Given the description of an element on the screen output the (x, y) to click on. 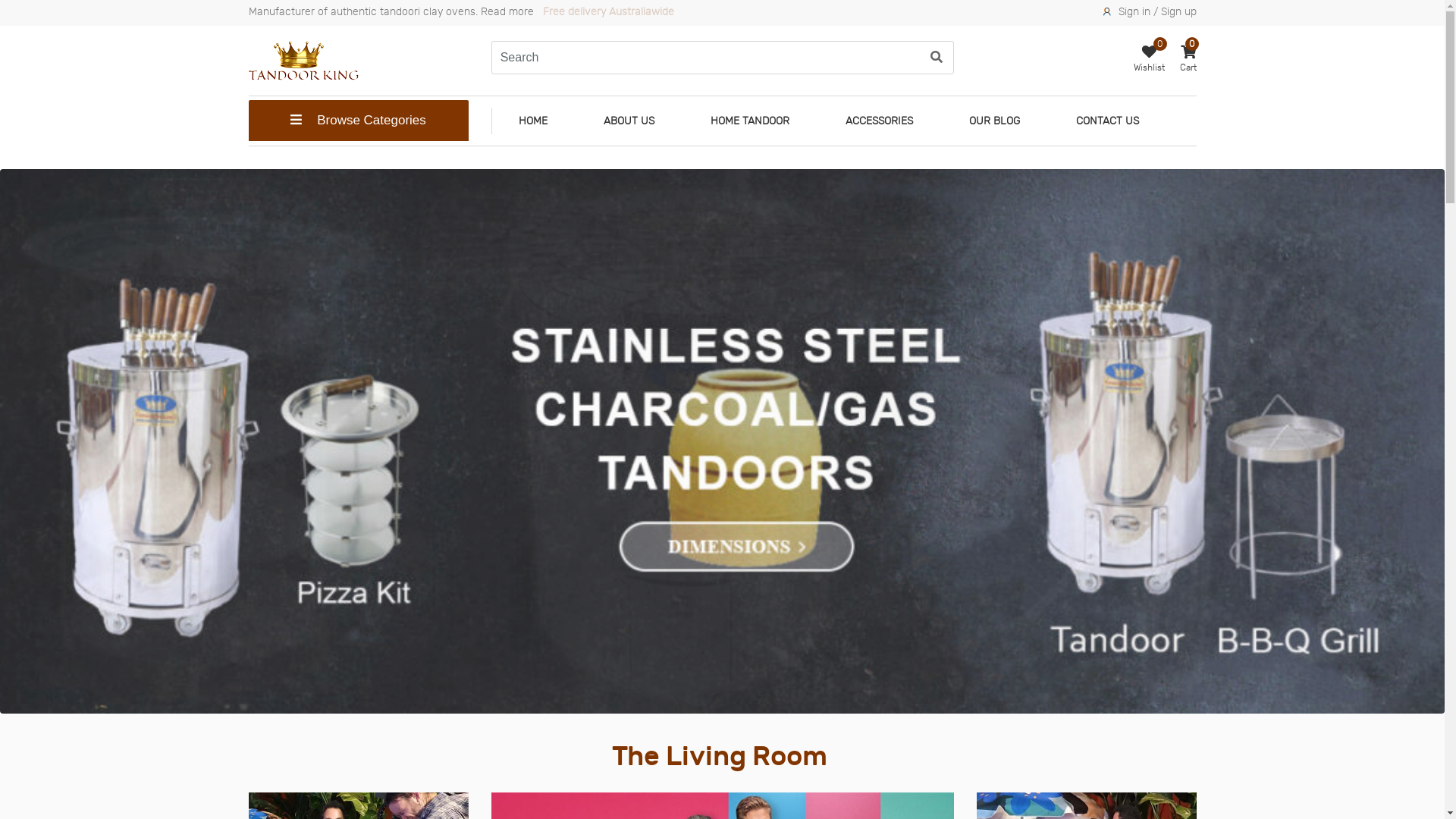
0

Wishlist Element type: text (1148, 60)
OUR BLOG Element type: text (993, 120)
Sign in / Sign up Element type: text (1156, 11)
ABOUT US Element type: text (628, 120)
Cart Element type: text (1187, 60)
Read more Element type: text (506, 11)
HOME Element type: text (532, 120)
HOME TANDOOR Element type: text (749, 120)
ACCESSORIES Element type: text (879, 120)
banner3 Element type: hover (722, 441)
Browse Categories Element type: text (358, 120)
CONTACT US Element type: text (1107, 120)
